Given the description of an element on the screen output the (x, y) to click on. 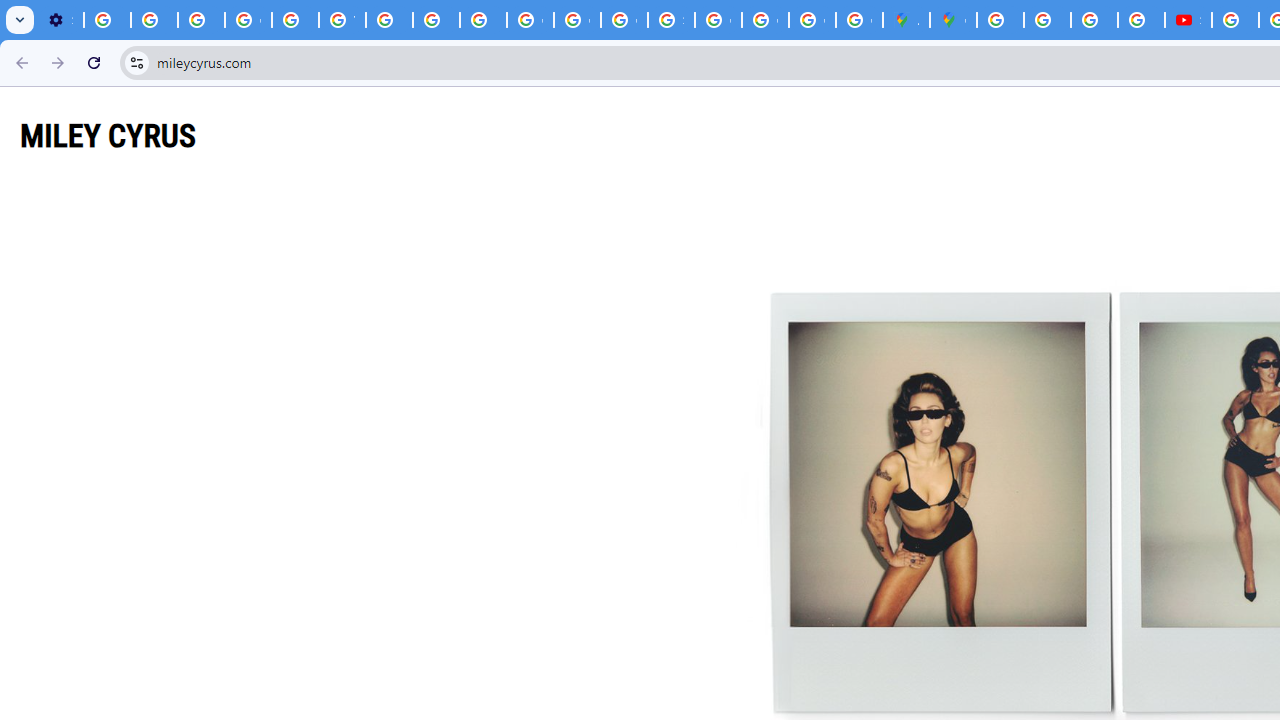
Settings - Customize profile (60, 20)
Privacy Help Center - Policies Help (294, 20)
YouTube (342, 20)
MILEY CYRUS (107, 135)
Privacy Help Center - Policies Help (436, 20)
Privacy Help Center - Policies Help (1094, 20)
Learn how to find your photos - Google Photos Help (153, 20)
